Given the description of an element on the screen output the (x, y) to click on. 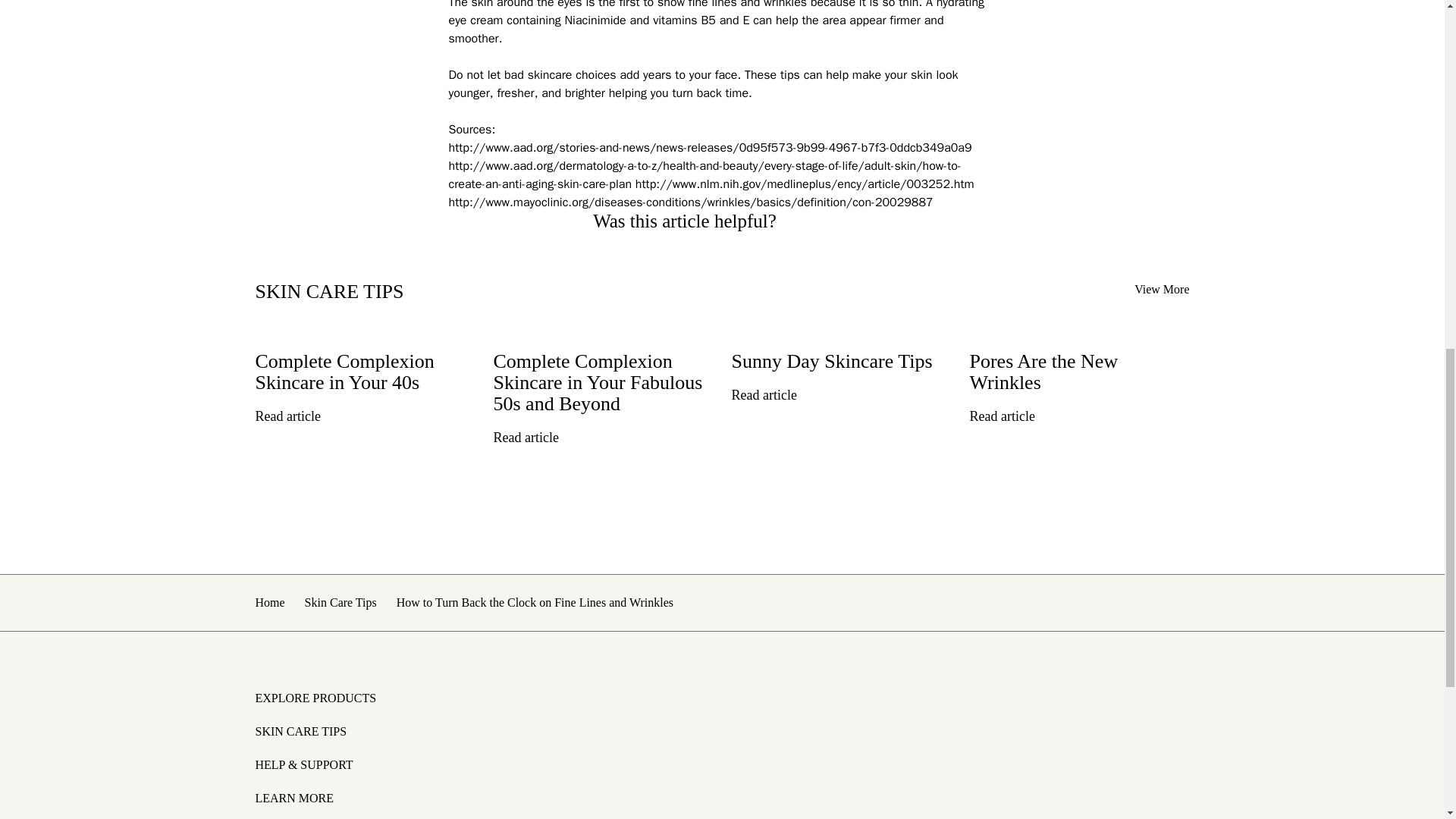
Skin Care Tips (340, 602)
Explore Products (721, 697)
Complete Complexion Skincare in Your 40s (364, 366)
Skin Care Tips (340, 602)
Read article (297, 416)
Read article (536, 437)
Sunny Day Skincare Tips (840, 355)
View More (1161, 288)
Pores Are the New Wrinkles (1079, 366)
Home (268, 602)
